Given the description of an element on the screen output the (x, y) to click on. 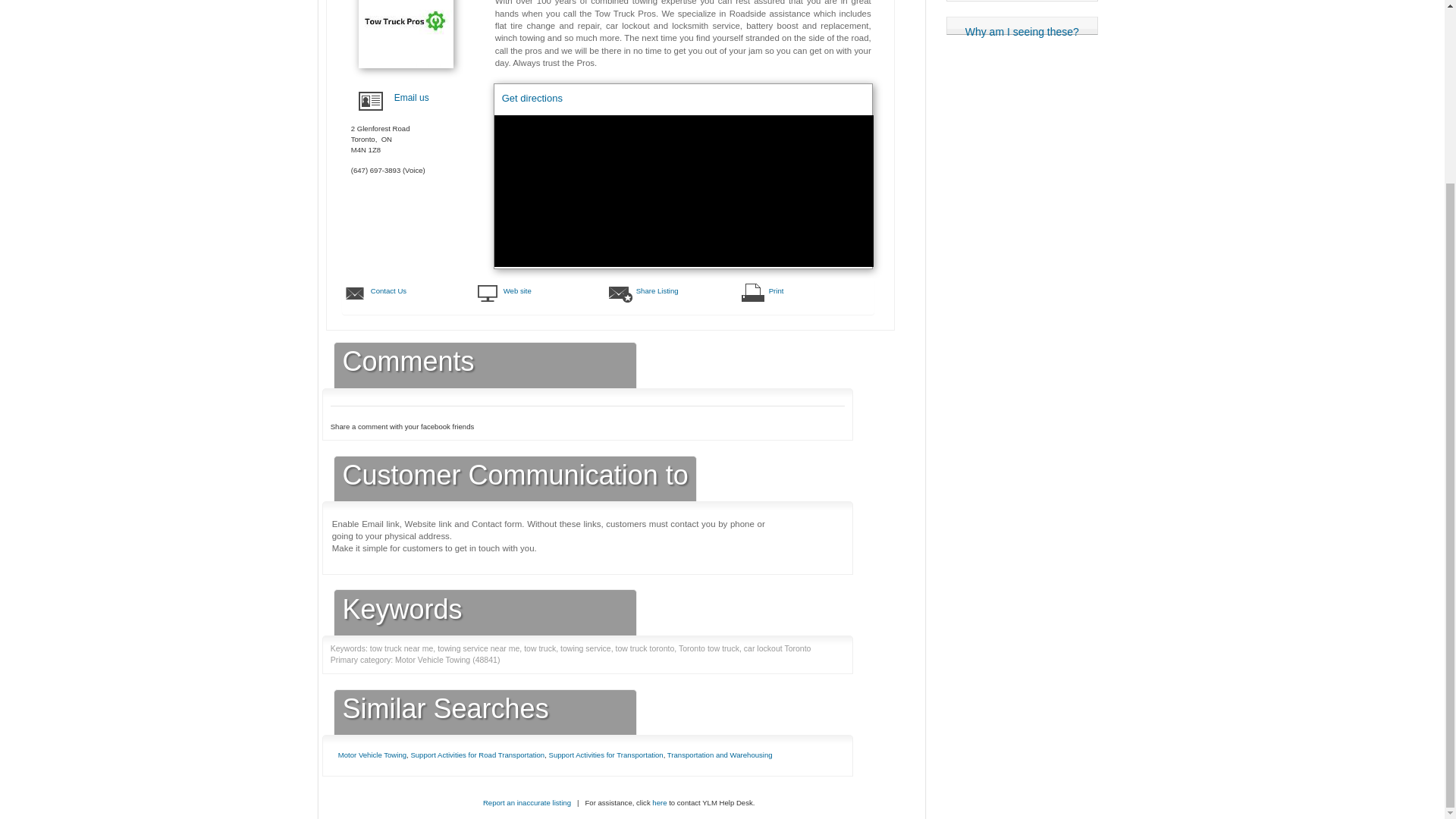
Get directions (532, 105)
Why am I seeing these? (1021, 25)
Web site (553, 290)
Towing Angels (1021, 0)
Transportation and Warehousing (719, 755)
Search business category: Motor Vehicle Towing (371, 755)
Send an email to this organization (411, 97)
Email us (411, 97)
Report an inaccurate listing (526, 802)
Support Activities for Transportation (605, 755)
